Given the description of an element on the screen output the (x, y) to click on. 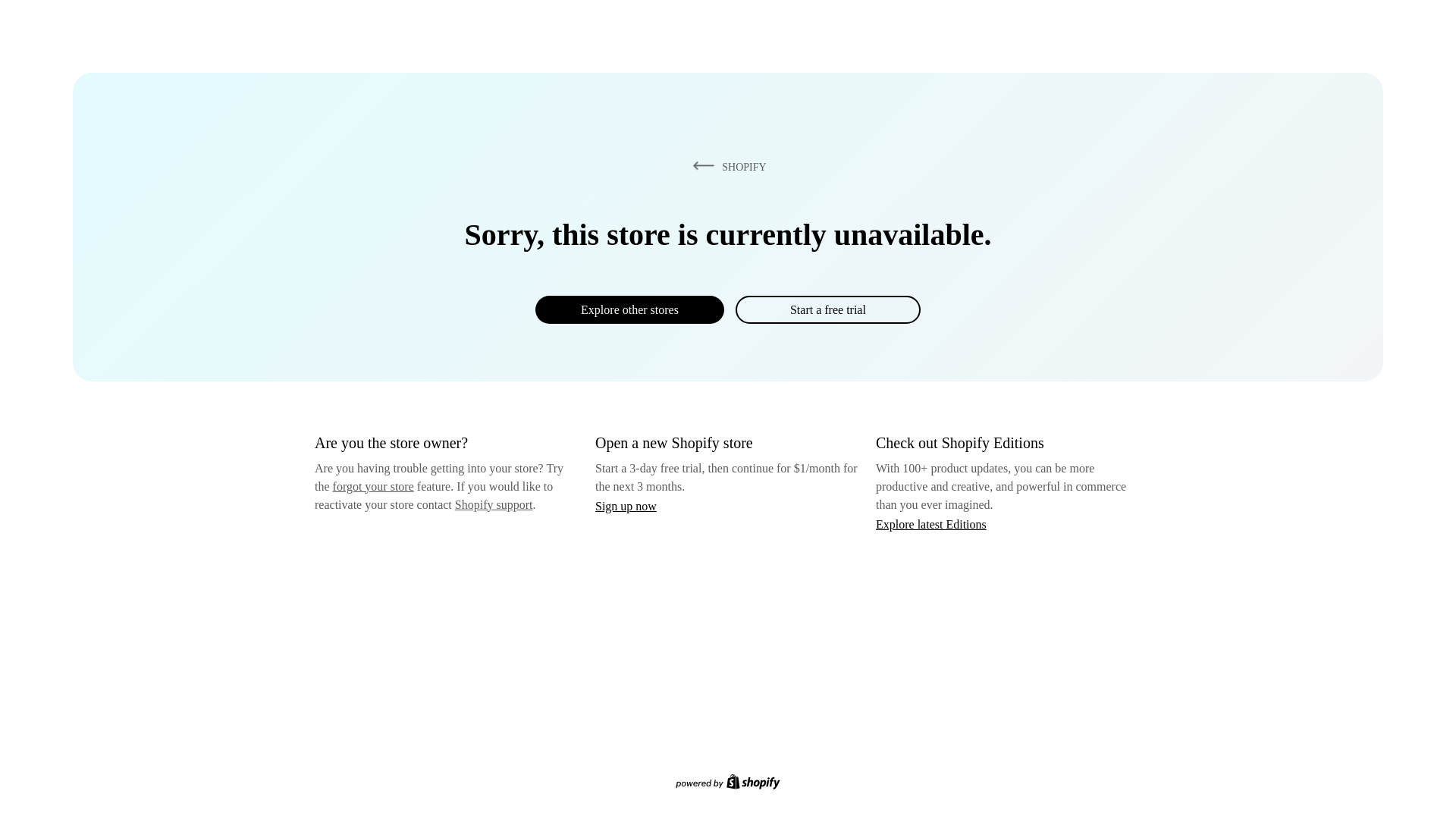
Start a free trial (827, 309)
forgot your store (373, 486)
Explore other stores (629, 309)
Shopify support (493, 504)
Sign up now (625, 505)
Explore latest Editions (931, 523)
SHOPIFY (726, 166)
